Given the description of an element on the screen output the (x, y) to click on. 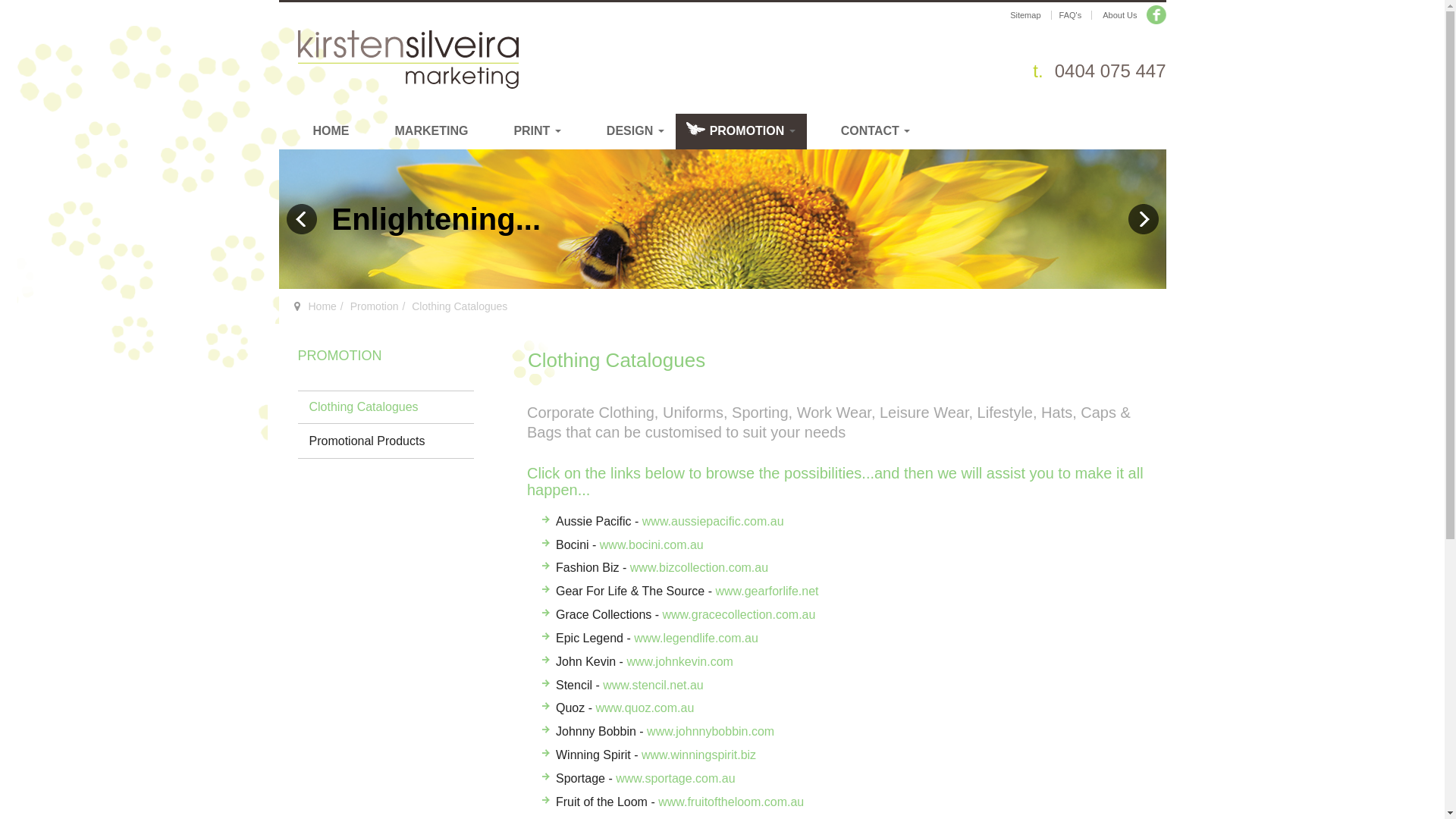
Sitemap Element type: text (1025, 14)
www.bocini.com.au Element type: text (651, 544)
www.johnkevin.com Element type: text (679, 661)
www.gracecollection.com.au Element type: text (738, 614)
www.legendlife.com.au Element type: text (695, 637)
DESIGN Element type: text (623, 131)
0404 075 447 Element type: text (1110, 70)
www.sportage.com.au Element type: text (674, 777)
CONTACT Element type: text (863, 131)
www.aussiepacific.com.au Element type: text (713, 520)
www.winningspirit.biz Element type: text (698, 754)
www.johnnybobbin.com Element type: text (710, 730)
www.stencil.net.au Element type: text (652, 684)
HOME Element type: text (319, 131)
FAQ's Element type: text (1070, 14)
www.gearforlife.net Element type: text (766, 590)
Clothing Catalogues Element type: text (385, 407)
PRINT Element type: text (525, 131)
You are here:  Element type: hover (297, 306)
PROMOTION Element type: text (740, 131)
Promotion Element type: text (374, 306)
www.bizcollection.com.au Element type: text (699, 567)
MARKETING Element type: text (420, 131)
www.quoz.com.au Element type: text (644, 707)
Promotional Products Element type: text (385, 441)
www.fruitoftheloom.com.au Element type: text (730, 801)
Kirsten Silveira Marketing Element type: hover (407, 59)
PROMOTION Element type: text (338, 355)
About Us Element type: text (1128, 14)
Home Element type: text (321, 306)
